Given the description of an element on the screen output the (x, y) to click on. 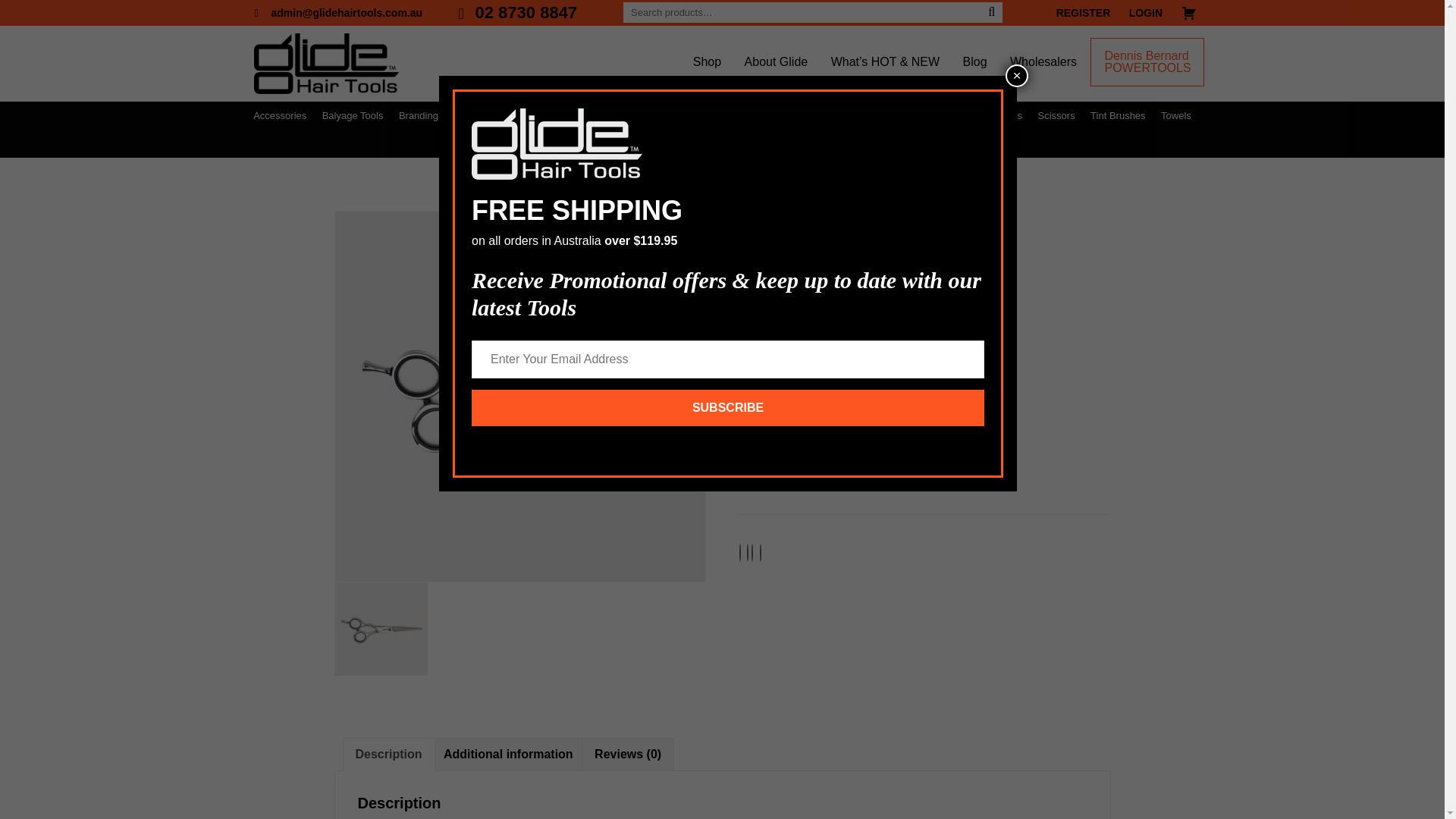
Branding Services Element type: text (438, 115)
Accessories Element type: text (279, 115)
Foil Element type: text (886, 115)
Balyage Tools Element type: text (352, 115)
Essence of a Salon Element type: text (819, 115)
Electricals Element type: text (738, 115)
Pin & Ripples Element type: text (938, 115)
Combs Element type: text (685, 115)
scissors-16 Element type: hover (520, 396)
Mixed Bag Element type: text (722, 143)
Dennis Bernard POWERTOOLS Element type: text (1147, 61)
About Glide Element type: text (776, 62)
02 8730 8847 Element type: text (518, 12)
Shop Element type: text (707, 62)
admin@glidehairtools.com.au Element type: text (339, 12)
Wholesalers Element type: text (1043, 62)
Glide Hair Tools Element type: text (326, 63)
Blog Element type: text (975, 62)
Pouches Element type: text (1002, 115)
LOGIN TO SEE THE PRICE Element type: text (832, 406)
Search Element type: text (991, 11)
Towels Element type: text (1175, 115)
Scissors Element type: text (816, 480)
Description Element type: text (387, 754)
Tint Brushes Element type: text (1117, 115)
Scissors Element type: text (1056, 115)
Capes & Aprons Element type: text (581, 115)
REGISTER Element type: text (1083, 12)
Reviews (0) Element type: text (627, 754)
Skip to primary navigation Element type: text (0, 0)
Additional information Element type: text (508, 754)
Brushes Element type: text (512, 115)
SUBSCRIBE Element type: text (727, 347)
Clips Element type: text (643, 115)
LOGIN Element type: text (1145, 12)
